Given the description of an element on the screen output the (x, y) to click on. 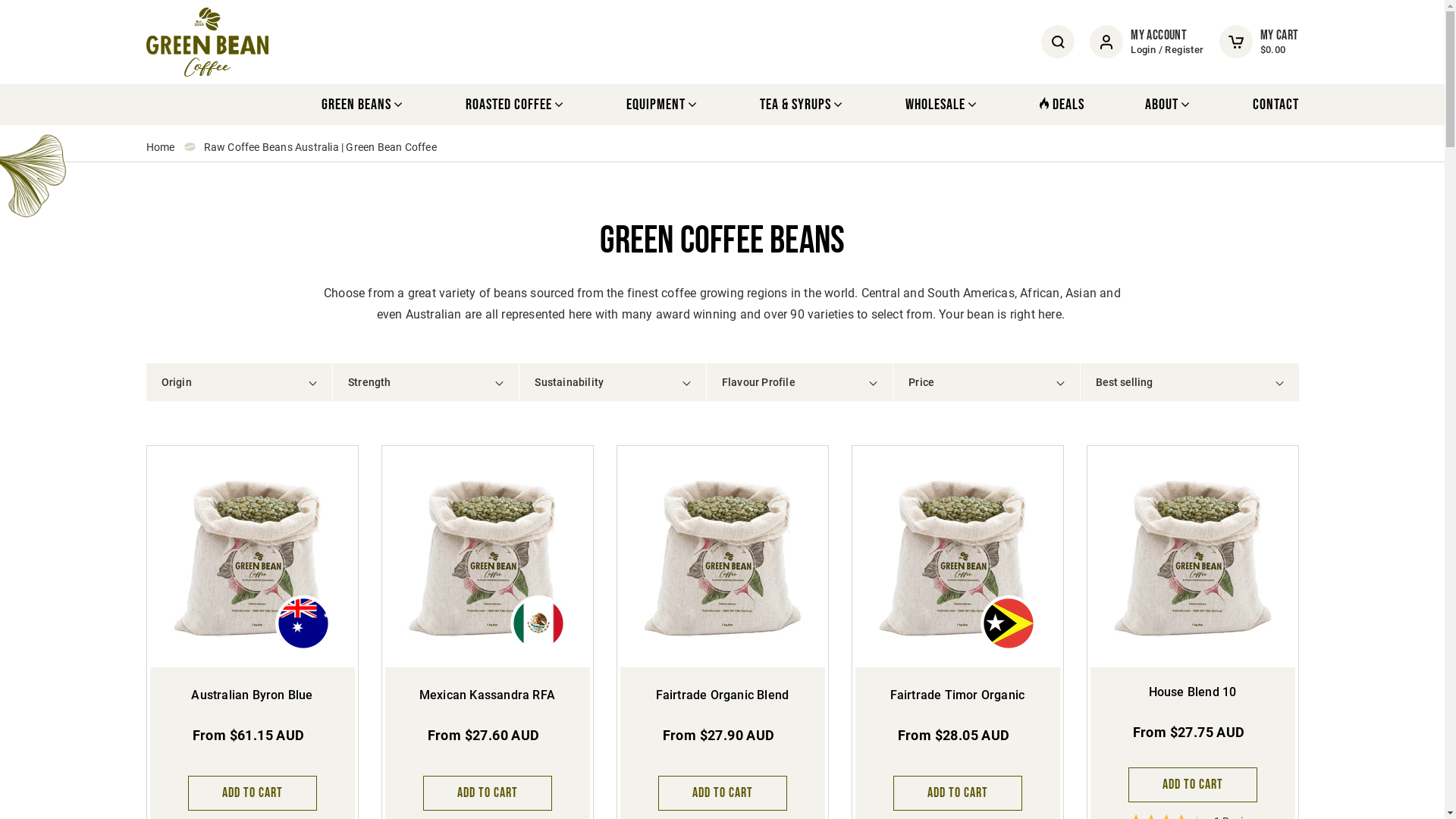
MY CART
$0.00 Element type: text (1259, 41)
ABOUT Element type: text (1168, 104)
Add to cart Element type: text (1192, 784)
Fairtrade Organic Blend Element type: text (722, 694)
Home Element type: text (159, 146)
deal-icon Element type: hover (1043, 103)
user Element type: hover (1106, 41)
Add to cart Element type: text (722, 792)
GREEN BEANS Element type: text (362, 104)
House Blend 10 Element type: text (1192, 691)
Mexican Kassandra RFA Element type: text (487, 694)
Add to cart Element type: text (487, 792)
Fairtrade Timor Organic Element type: text (957, 694)
cart Element type: hover (1235, 41)
EQUIPMENT Element type: text (662, 104)
WHOLESALE Element type: text (942, 104)
ROASTED COFFEE Element type: text (515, 104)
TEA & SYRUPS Element type: text (801, 104)
search Element type: hover (1057, 41)
DEALS Element type: text (1060, 104)
MY ACCOUNT
Login / Register Element type: text (1146, 41)
Add to cart Element type: text (252, 792)
CONTACT Element type: text (1275, 104)
Australian Byron Blue Element type: text (251, 694)
Add to cart Element type: text (957, 792)
